Given the description of an element on the screen output the (x, y) to click on. 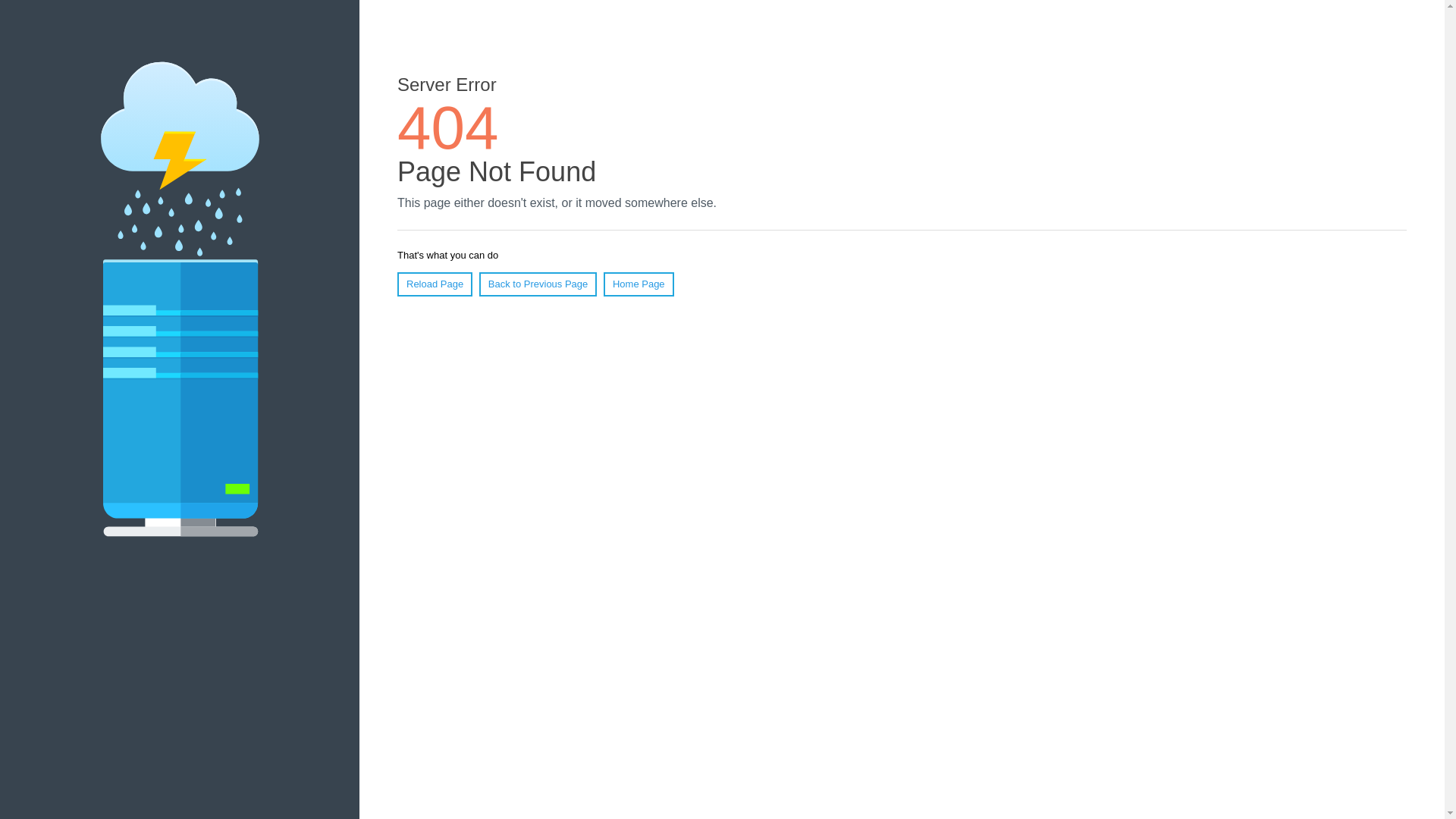
Home Page Element type: text (638, 284)
Back to Previous Page Element type: text (538, 284)
Reload Page Element type: text (434, 284)
